Given the description of an element on the screen output the (x, y) to click on. 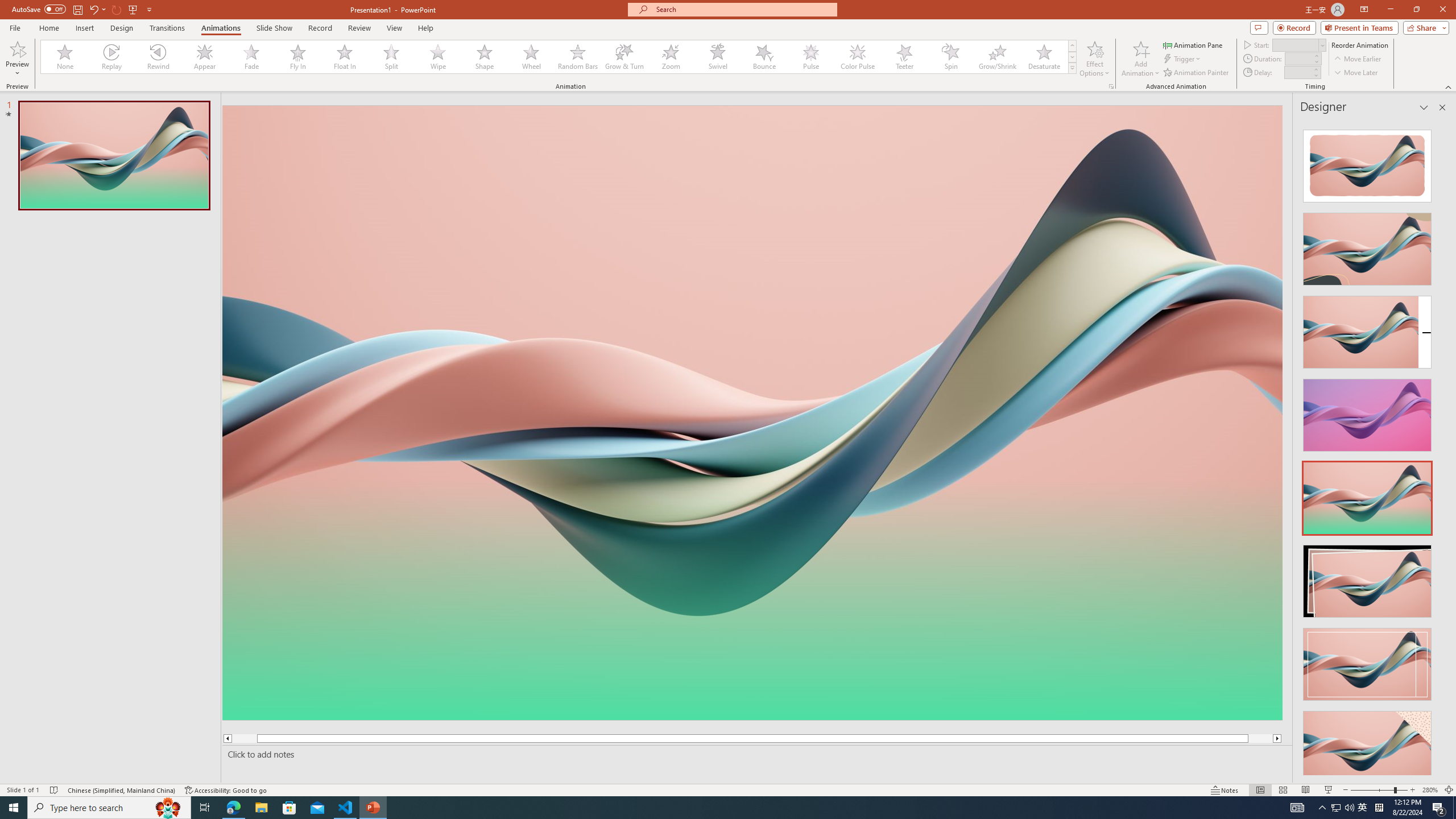
Animation Pane (1193, 44)
More (1315, 69)
Accessibility Checker Accessibility: Good to go (226, 790)
Bounce (764, 56)
Move Earlier (1357, 58)
Recommended Design: Design Idea (1366, 162)
